Given the description of an element on the screen output the (x, y) to click on. 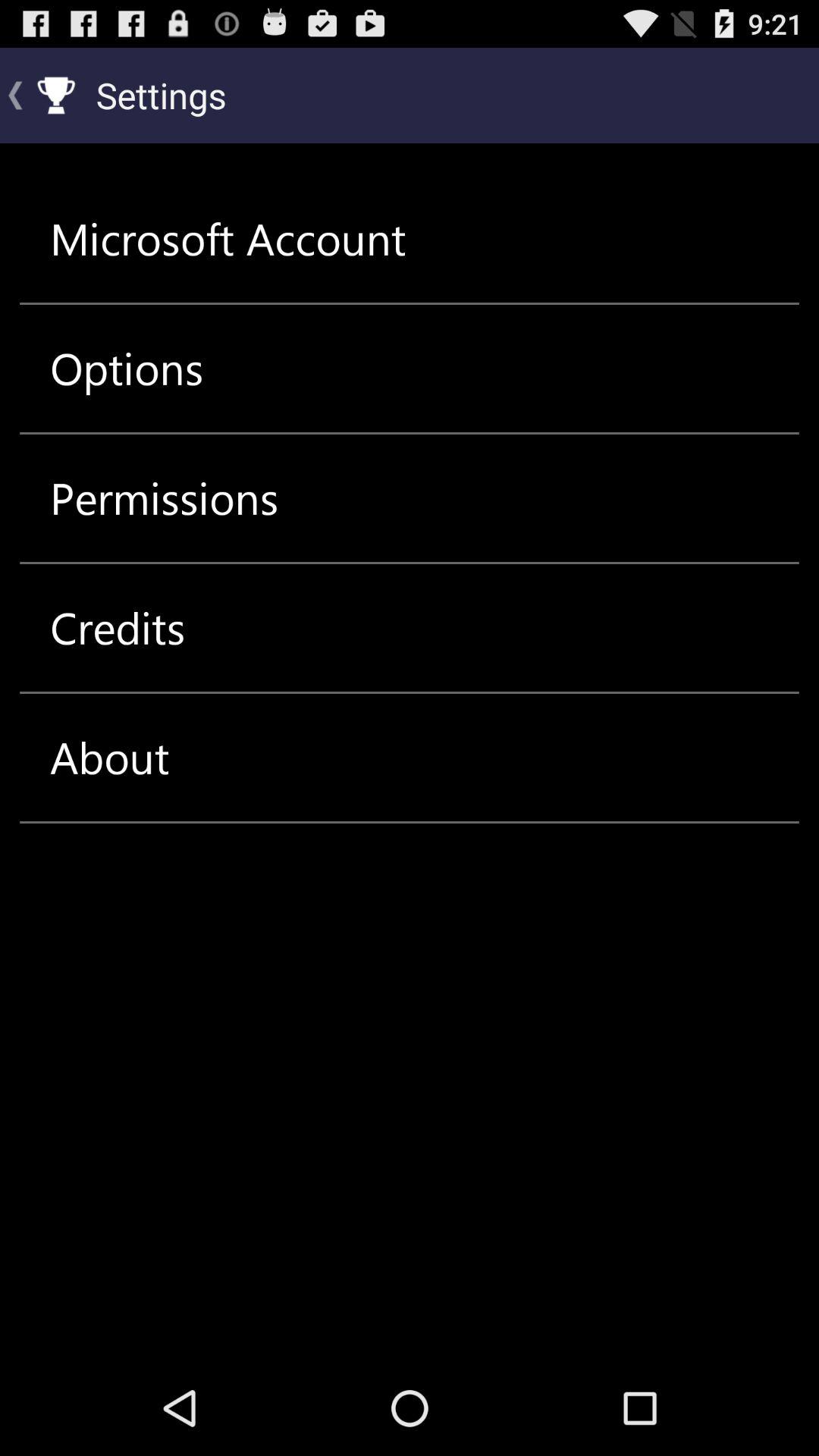
tap icon above credits item (164, 497)
